Given the description of an element on the screen output the (x, y) to click on. 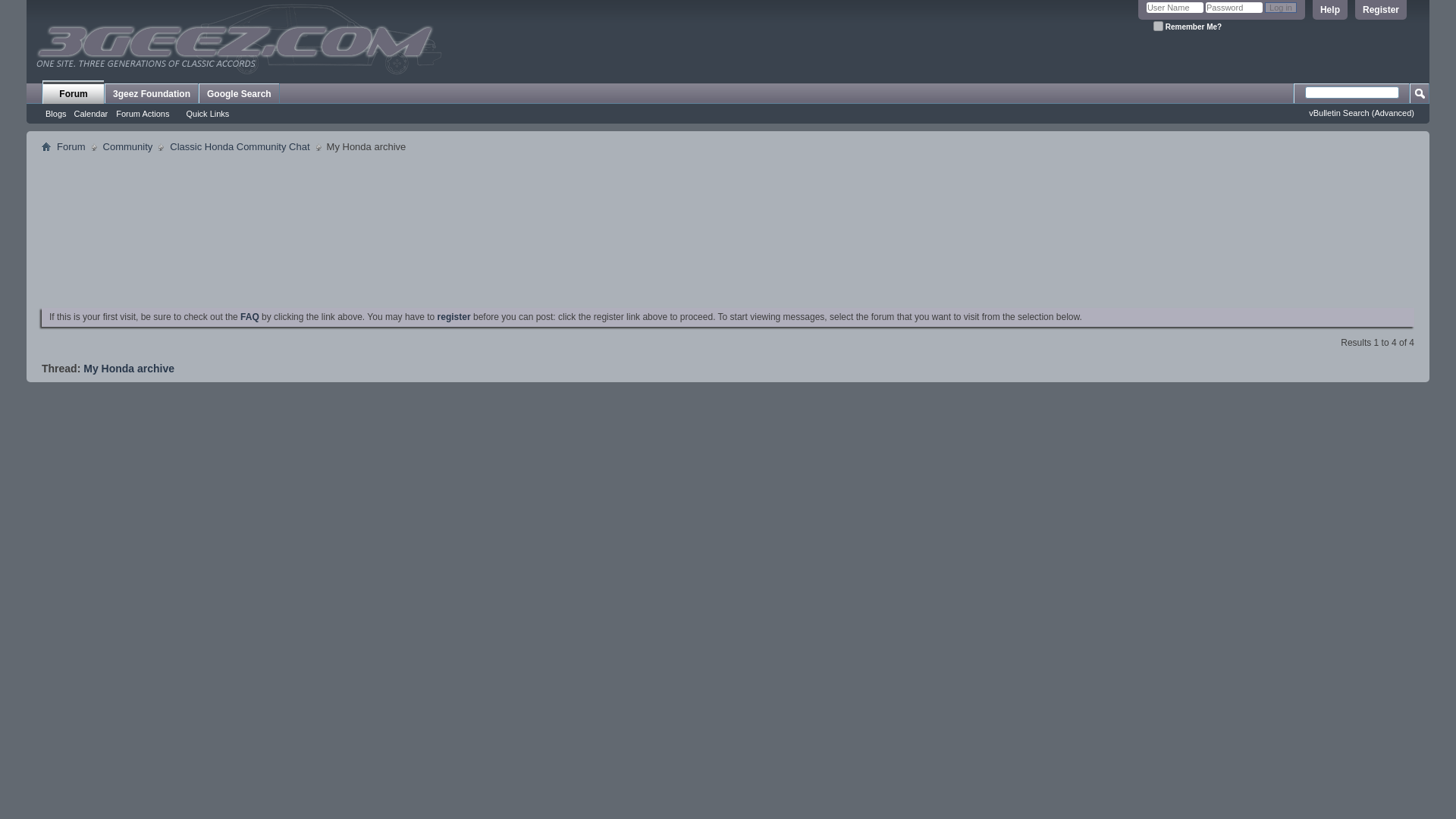
Calendar (90, 113)
Forum (72, 92)
Password (1233, 7)
Google Search (238, 93)
Log in (1281, 7)
Classic Honda Community Chat (239, 146)
register (454, 317)
3geez Foundation (151, 93)
User Name (1175, 7)
